Given the description of an element on the screen output the (x, y) to click on. 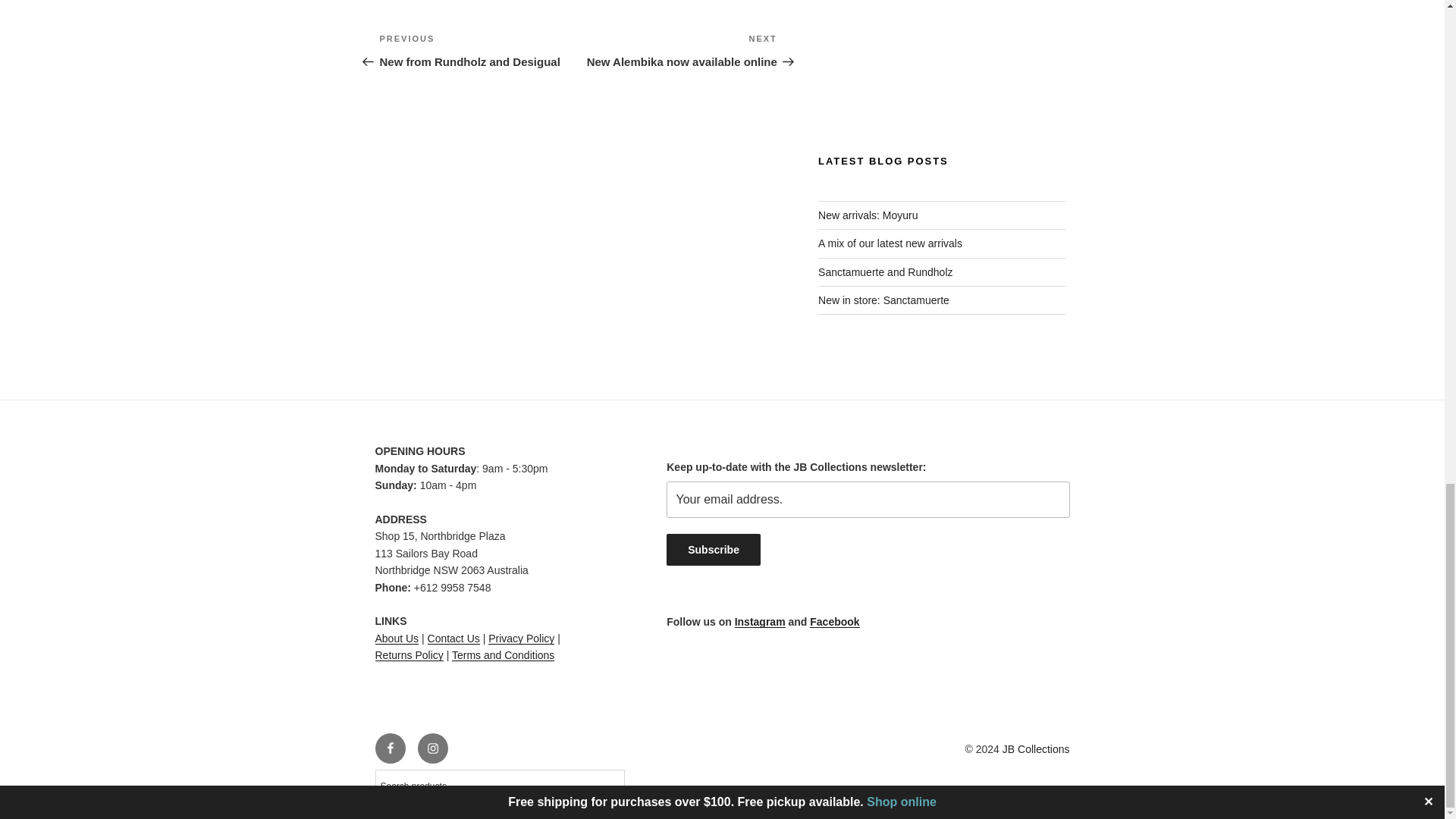
Subscribe (713, 549)
